Given the description of an element on the screen output the (x, y) to click on. 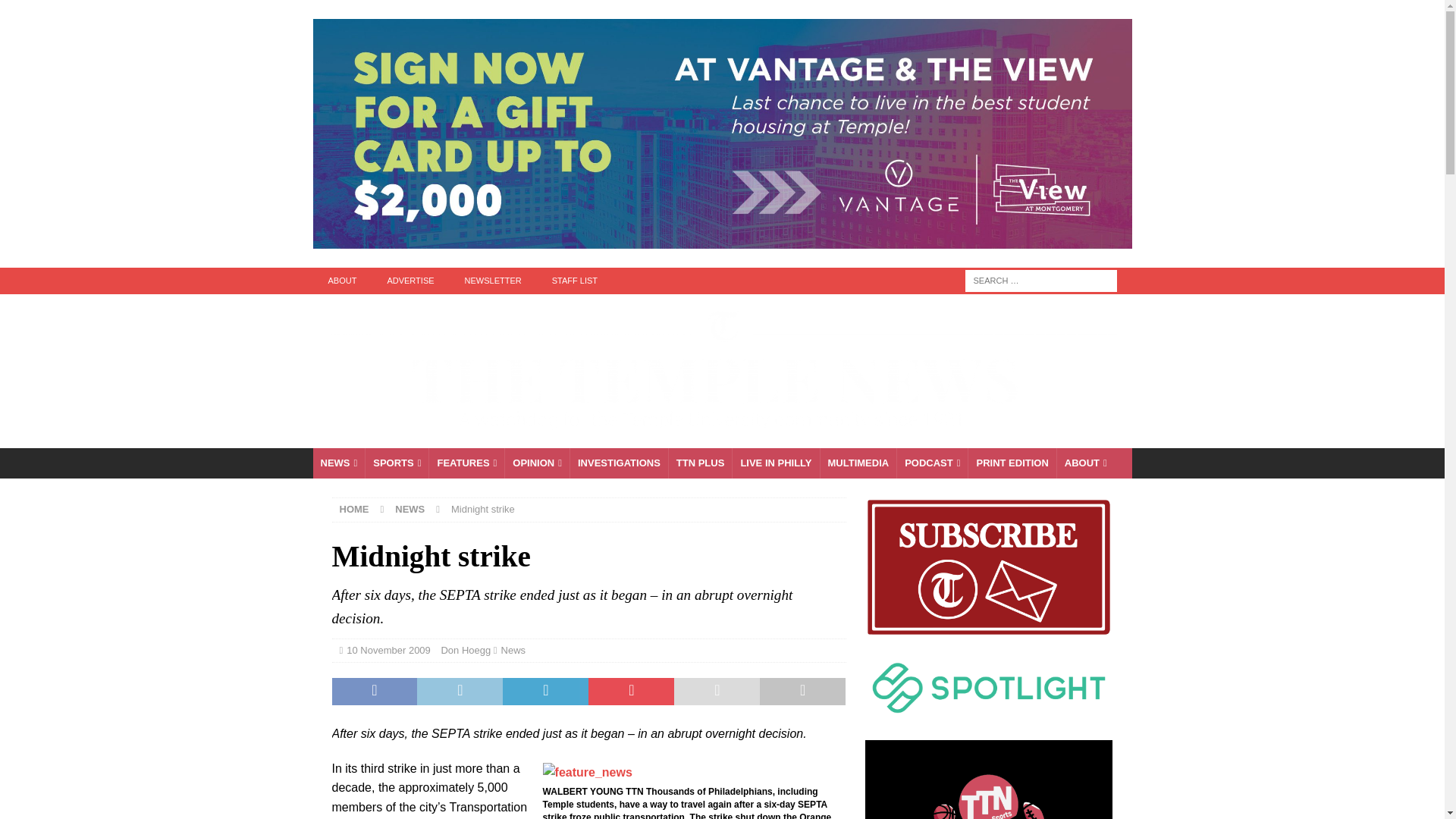
STAFF LIST (574, 280)
ABOUT (342, 280)
Posts by Don Hoegg (465, 650)
NEWSLETTER (493, 280)
Search (56, 11)
ADVERTISE (409, 280)
Longform (700, 463)
